Given the description of an element on the screen output the (x, y) to click on. 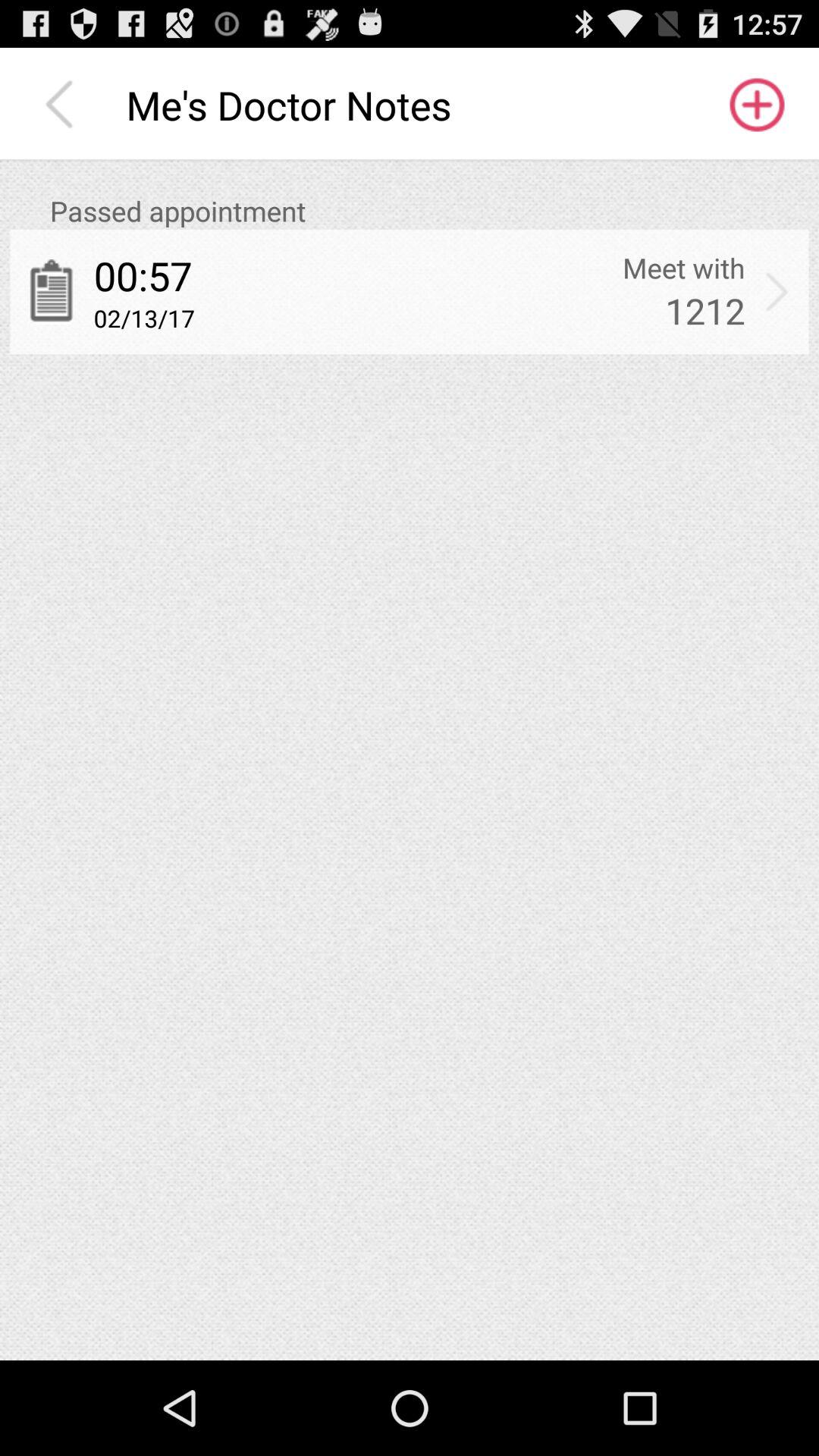
flip to the 02/13/17 item (144, 318)
